Given the description of an element on the screen output the (x, y) to click on. 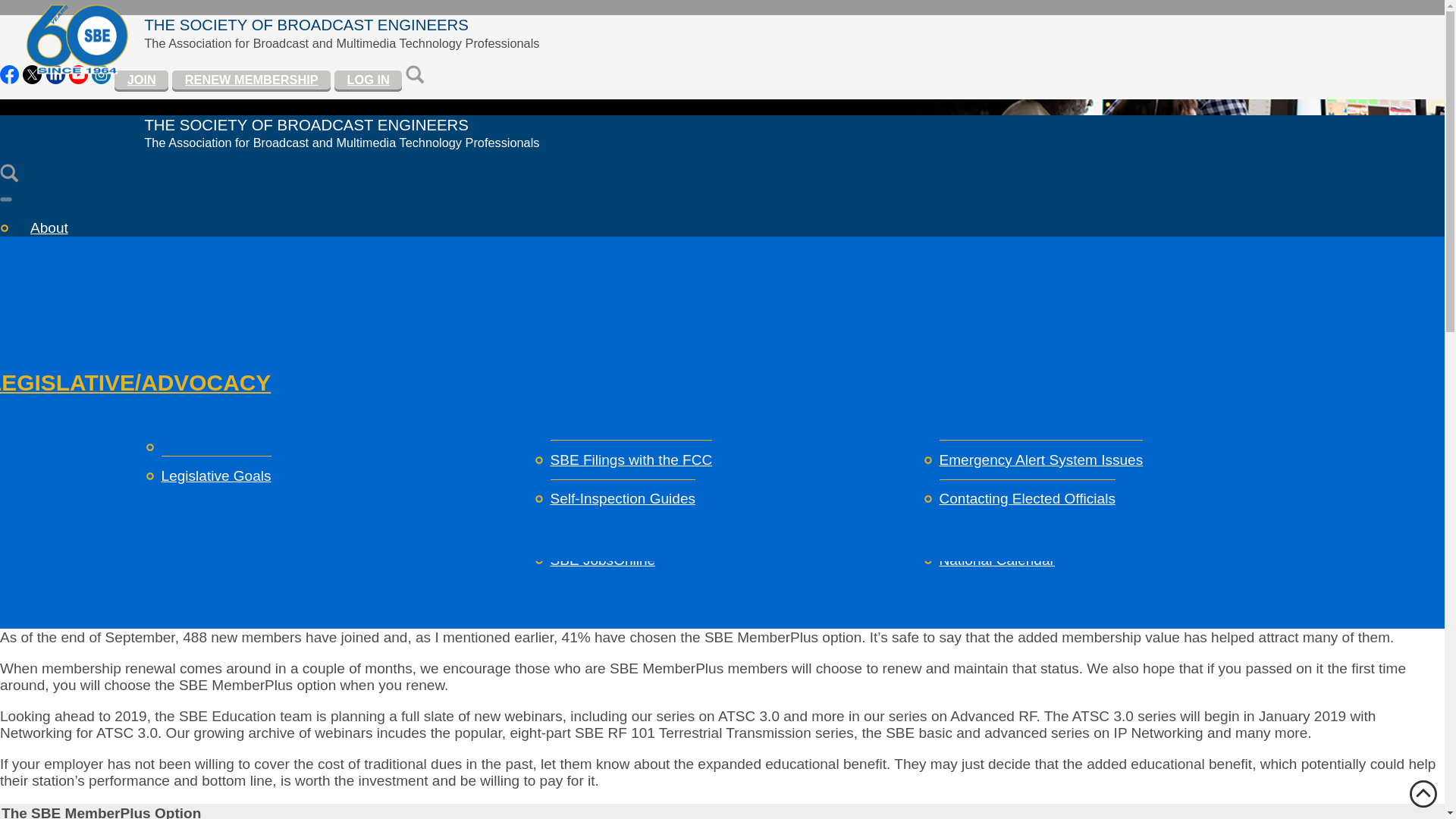
Chapters (190, 514)
SBE Sustaining Member List (641, 342)
SBE Print Publications (622, 498)
Press Resources (605, 537)
Who We Are (201, 358)
SBE Sustaining Member List (641, 359)
The SBE 2024 Membership Drive (268, 374)
LOG IN (367, 80)
About (49, 228)
MEMBERSHIP (70, 282)
Who We Are (201, 358)
SBE History (978, 459)
National Calendar (607, 420)
Committees (199, 436)
Chapters (190, 514)
